Given the description of an element on the screen output the (x, y) to click on. 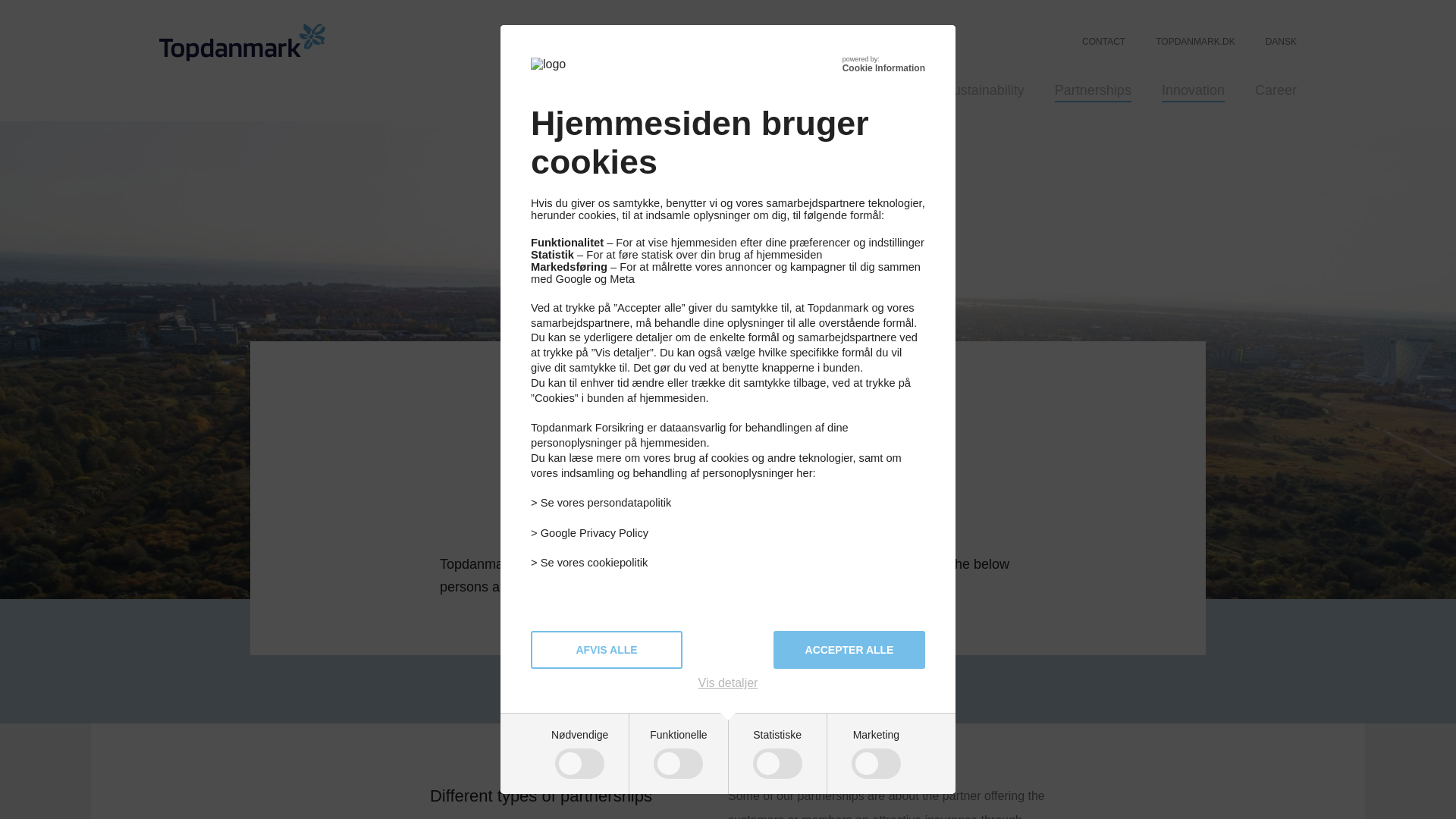
AFVIS ALLE (606, 649)
ACCEPTER ALLE (848, 649)
Cookie Information (883, 68)
Vis detaljer (728, 683)
